Given the description of an element on the screen output the (x, y) to click on. 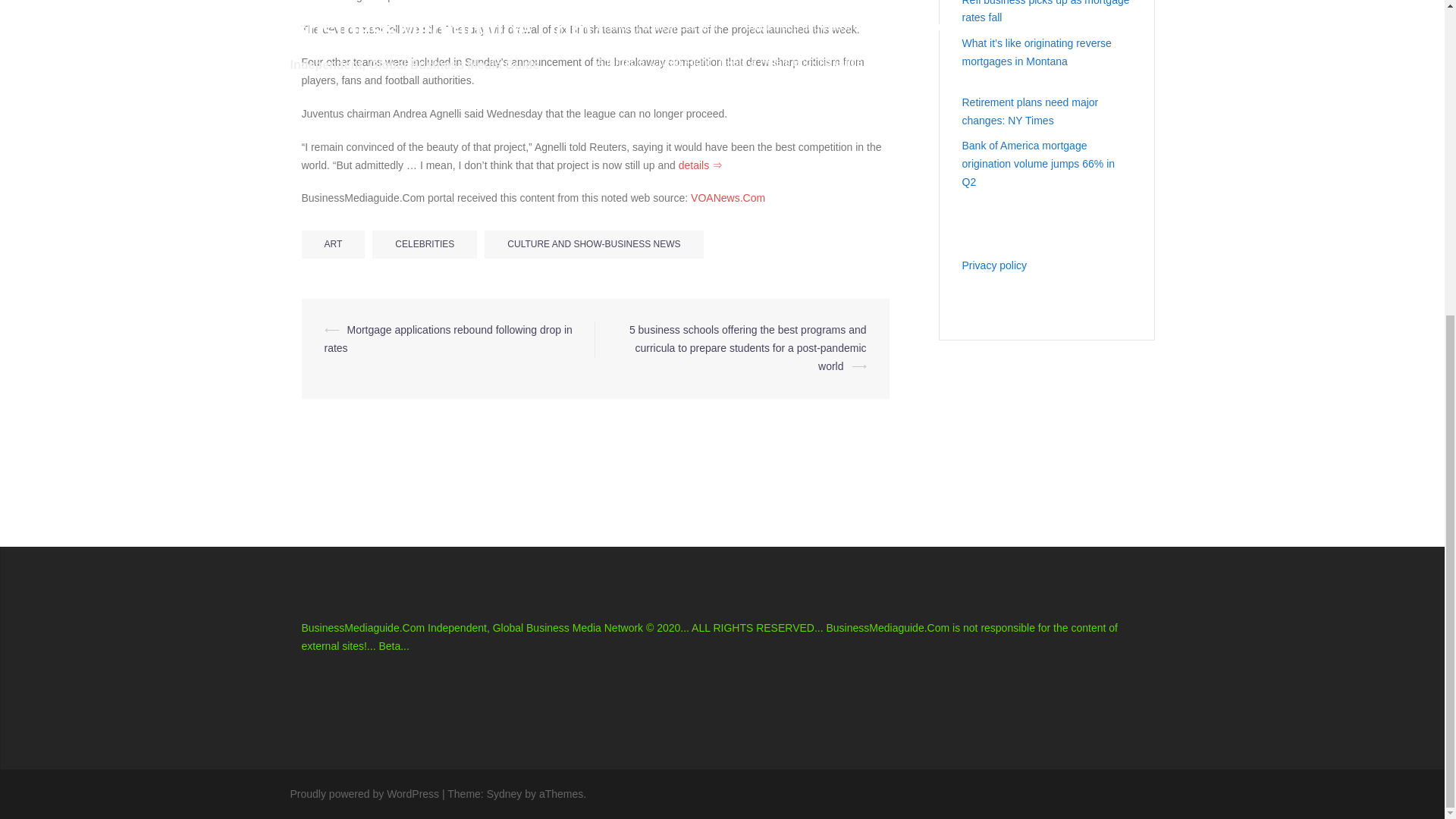
Refi business picks up as mortgage rates fall (1044, 12)
Retirement plans need major changes: NY Times (1028, 111)
ART (333, 243)
CELEBRITIES (424, 243)
Proudly powered by WordPress (364, 793)
CULTURE AND SHOW-BUSINESS NEWS (593, 243)
VOANews.Com (727, 197)
More Football Teams Exit Super League (727, 197)
Mortgage applications rebound following drop in rates (448, 338)
Advertisement (478, 265)
Privacy policy (993, 265)
